Given the description of an element on the screen output the (x, y) to click on. 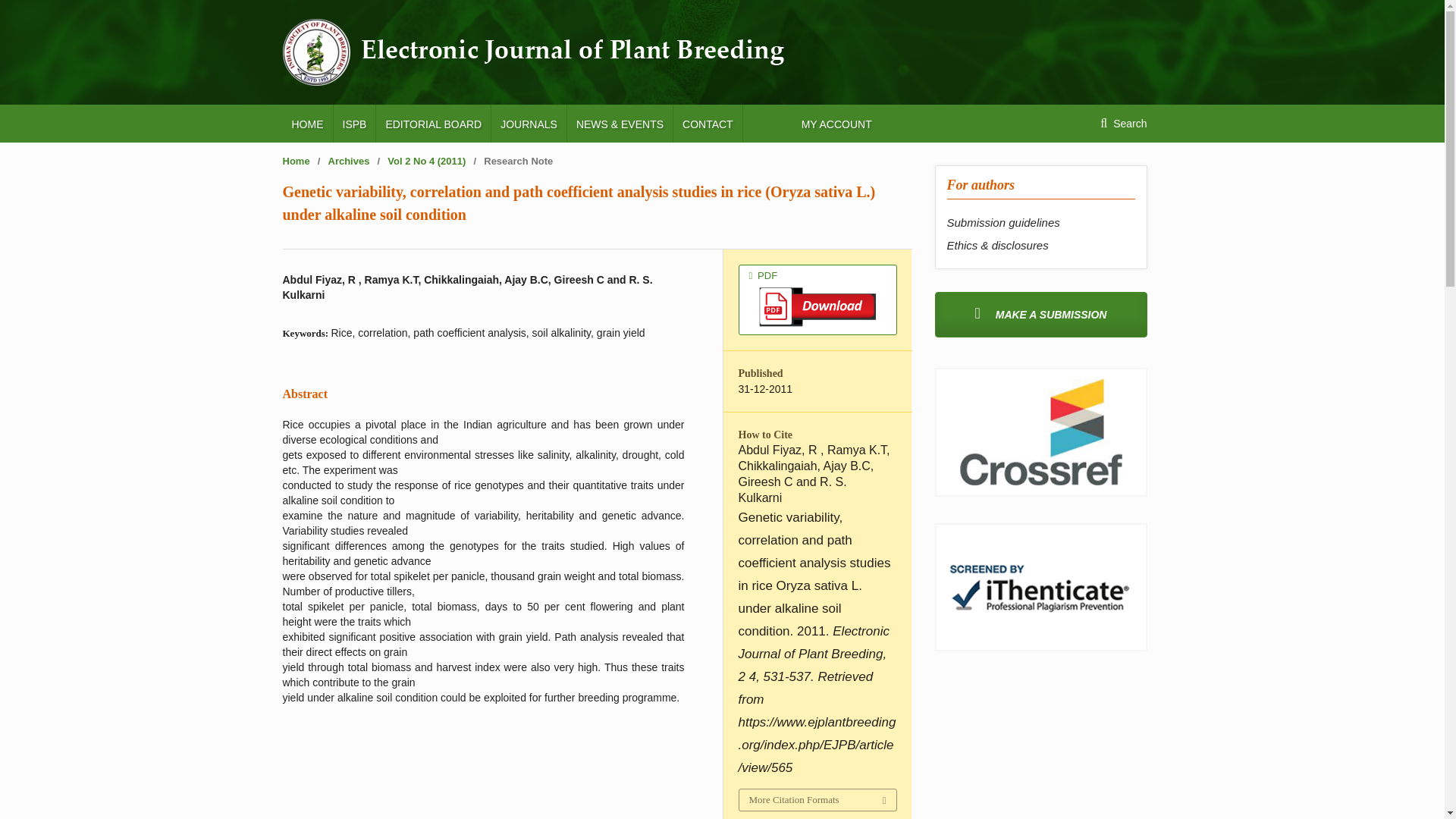
HOME (306, 123)
Archives (348, 160)
CONTACT (707, 123)
EDITORIAL BOARD (432, 123)
Home (295, 160)
JOURNALS (529, 123)
MY ACCOUNT (836, 123)
More Citation Formats (816, 799)
ISPB (354, 123)
PDF (817, 299)
Search (1122, 123)
